Given the description of an element on the screen output the (x, y) to click on. 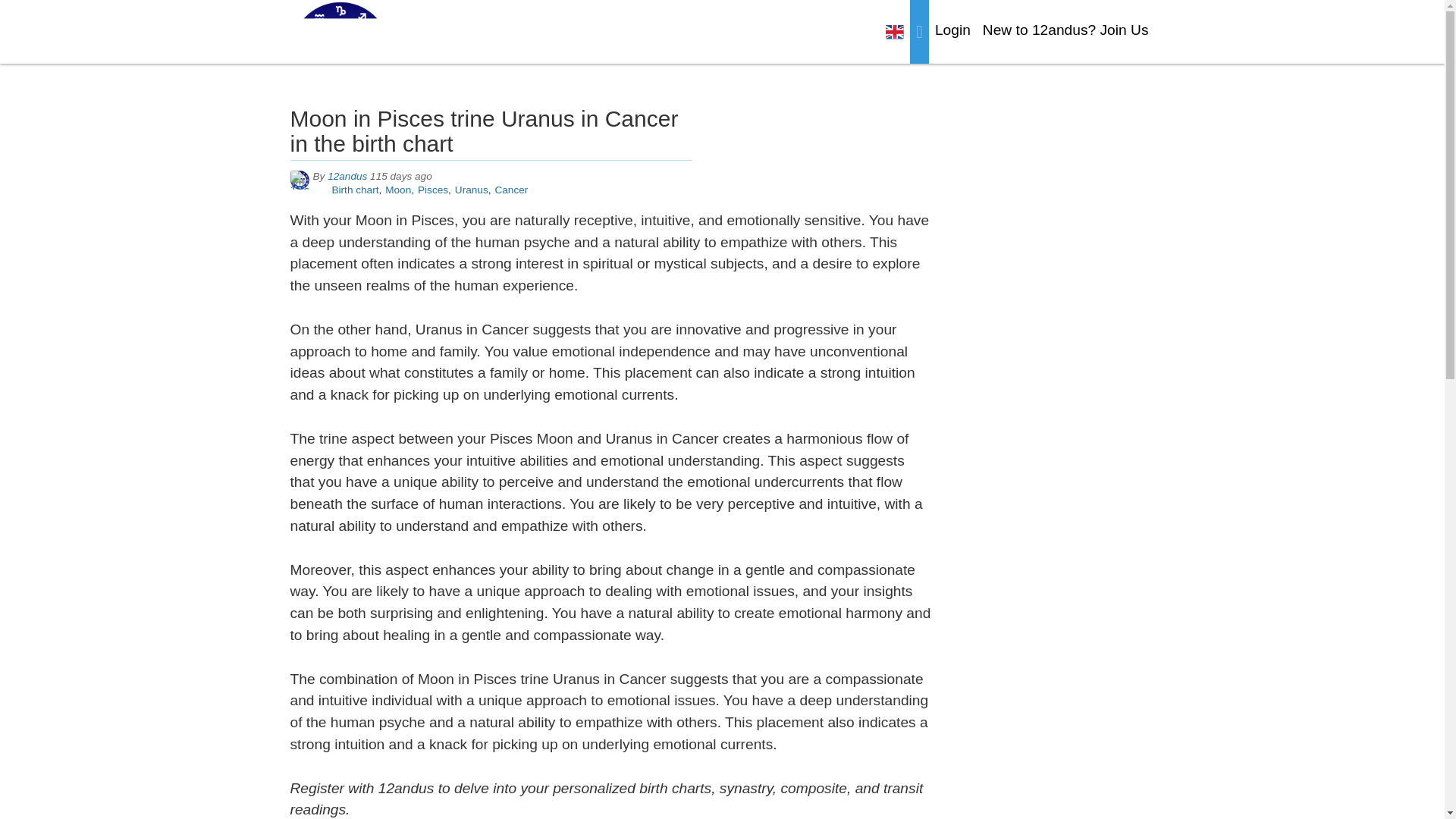
English (894, 31)
Login (952, 30)
New to 12andus? Join Us (1065, 30)
Blogs (919, 32)
